Given the description of an element on the screen output the (x, y) to click on. 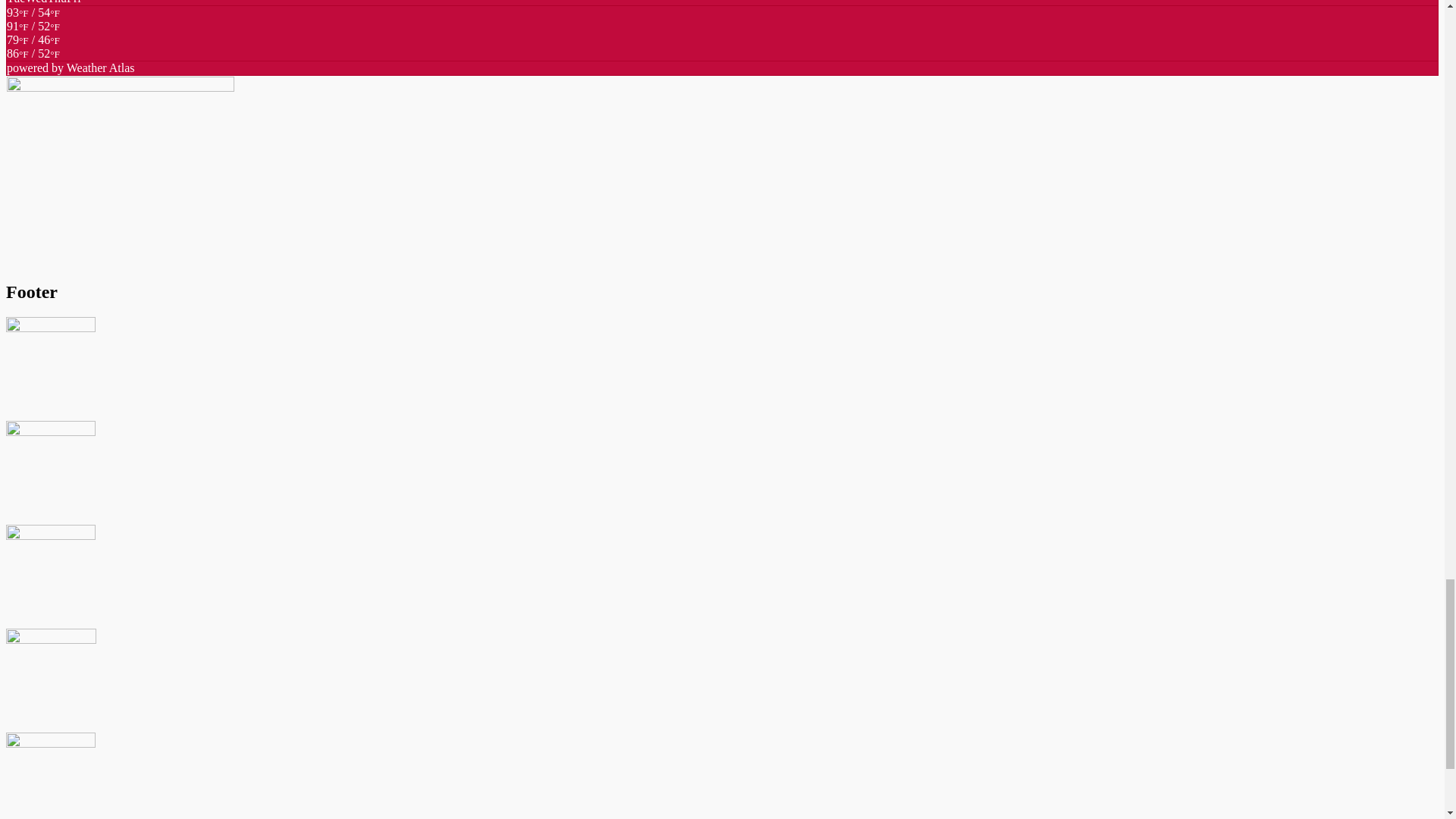
Mostly Sunny (33, 52)
Sunny (33, 18)
Sunny (33, 46)
Mostly Sunny (33, 32)
